Given the description of an element on the screen output the (x, y) to click on. 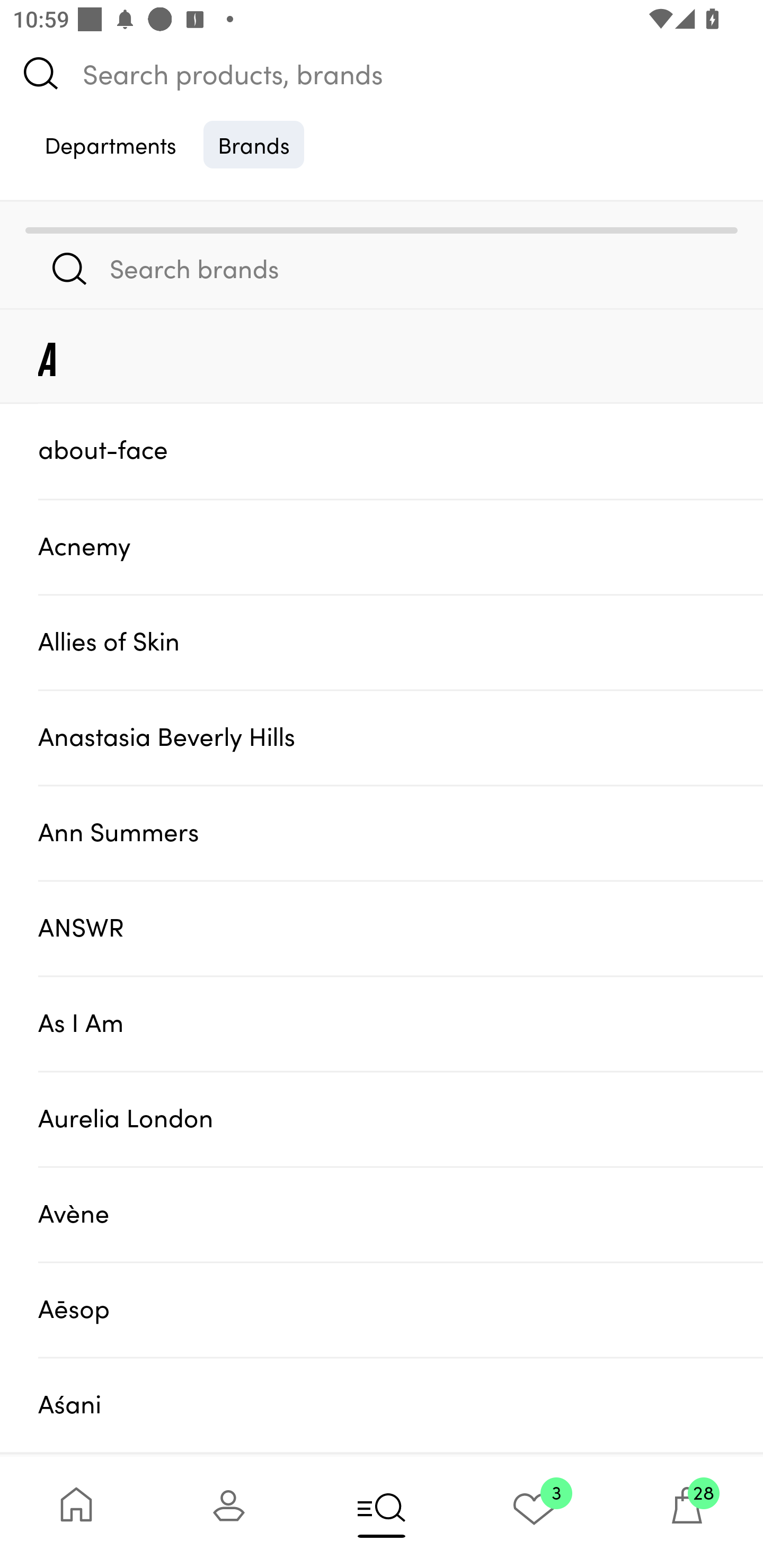
Search products, brands (381, 72)
Departments (110, 143)
Brands (253, 143)
about-face (400, 450)
Acnemy (400, 546)
Allies of Skin (400, 641)
Anastasia Beverly Hills (400, 737)
Ann Summers (400, 832)
ANSWR (400, 927)
As I Am (400, 1022)
Aurelia London (400, 1118)
Avène (400, 1214)
Aēsop (400, 1309)
Aśani (400, 1404)
3 (533, 1512)
28 (686, 1512)
